Given the description of an element on the screen output the (x, y) to click on. 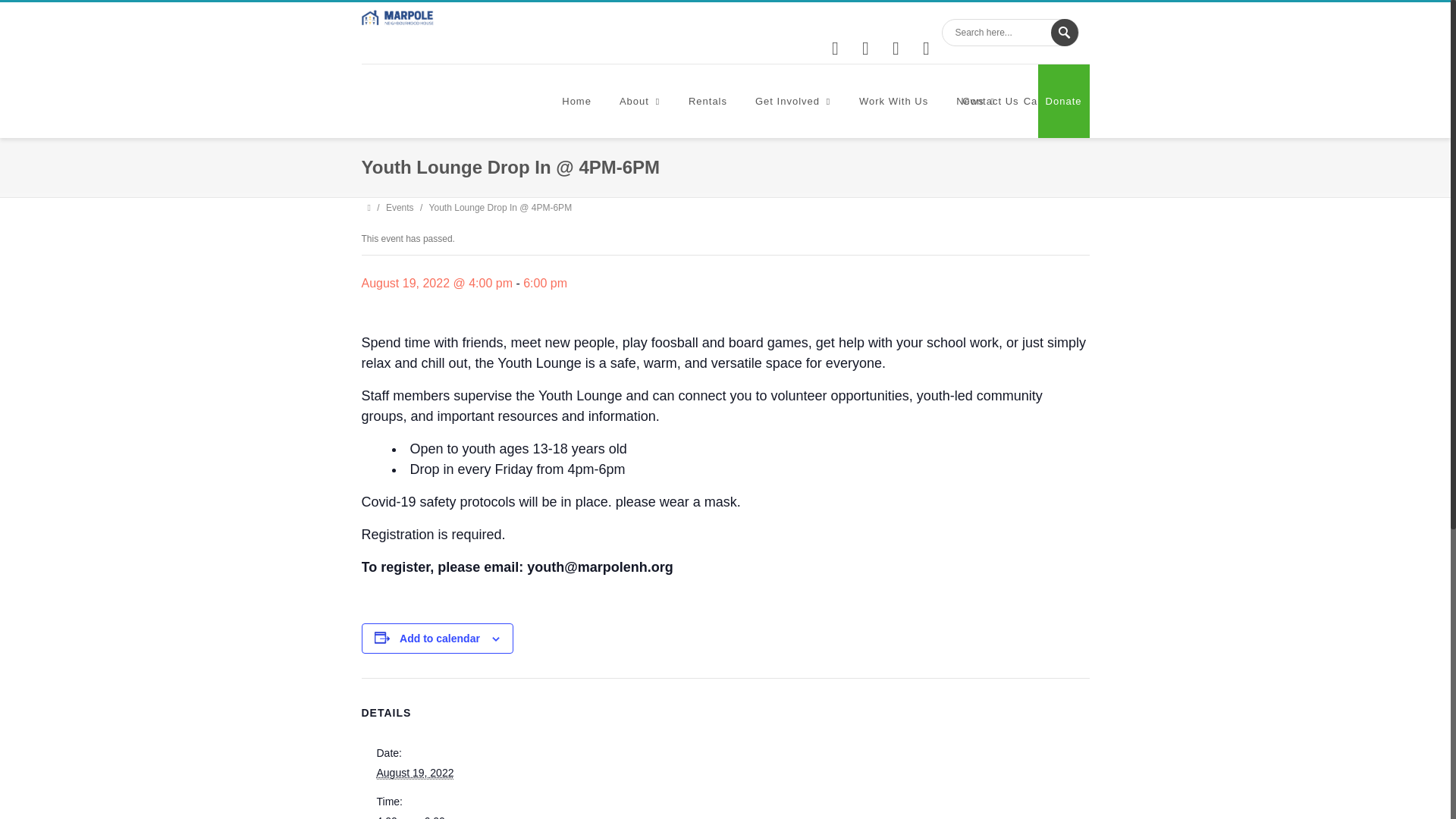
2022-08-19 (413, 772)
Marpole Neighbourhood House (396, 17)
Calendar (1052, 101)
Work With Us (893, 101)
submit (1064, 31)
Contact Us (990, 101)
2022-08-19 (440, 816)
Get Involved (793, 101)
submit (1064, 31)
